Given the description of an element on the screen output the (x, y) to click on. 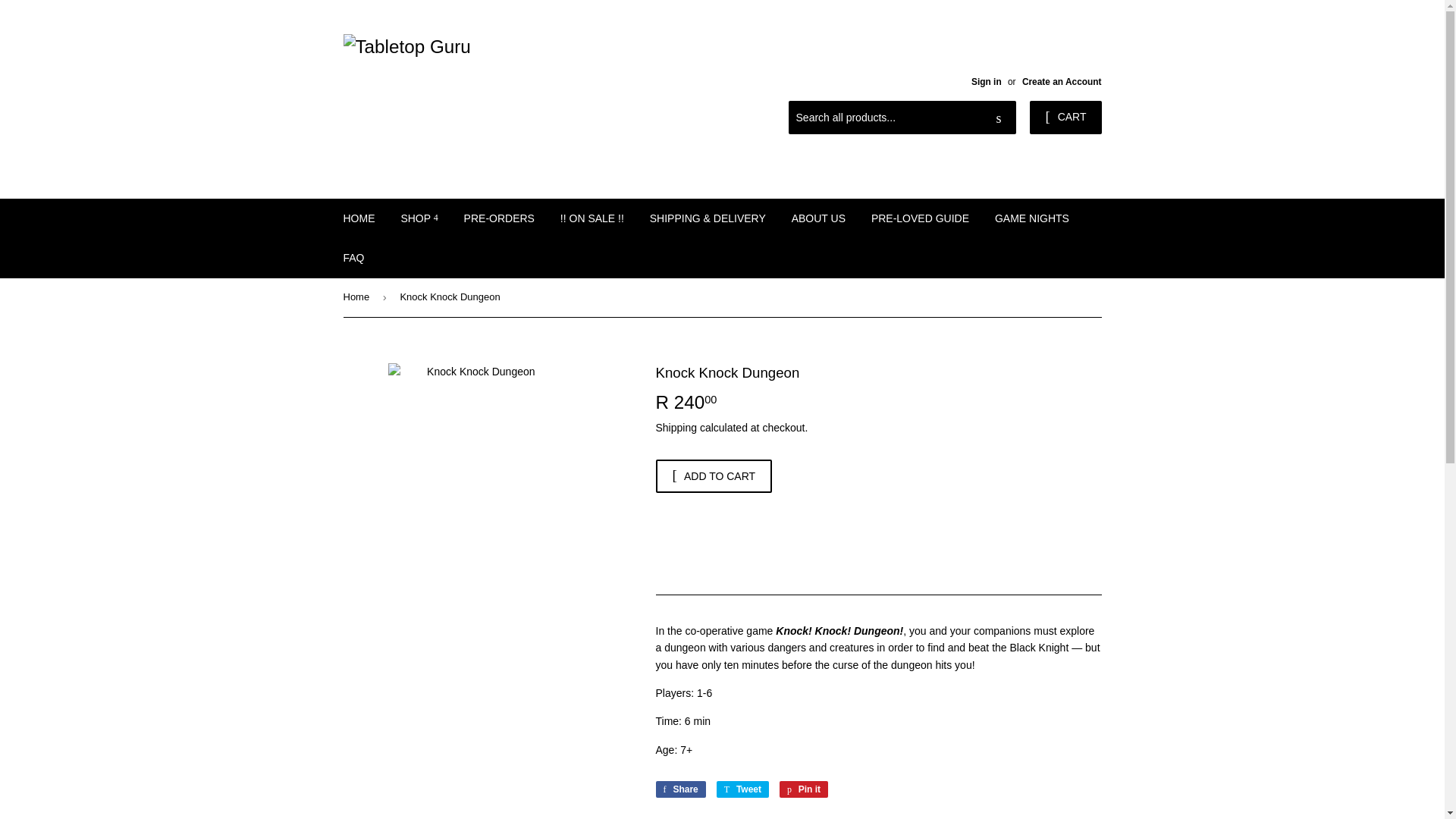
Create an Account (1062, 81)
HOME (359, 218)
CART (1064, 117)
Sign in (986, 81)
Search (998, 118)
Tweet on Twitter (742, 789)
SHOP (418, 218)
Share on Facebook (679, 789)
Pin on Pinterest (803, 789)
